Given the description of an element on the screen output the (x, y) to click on. 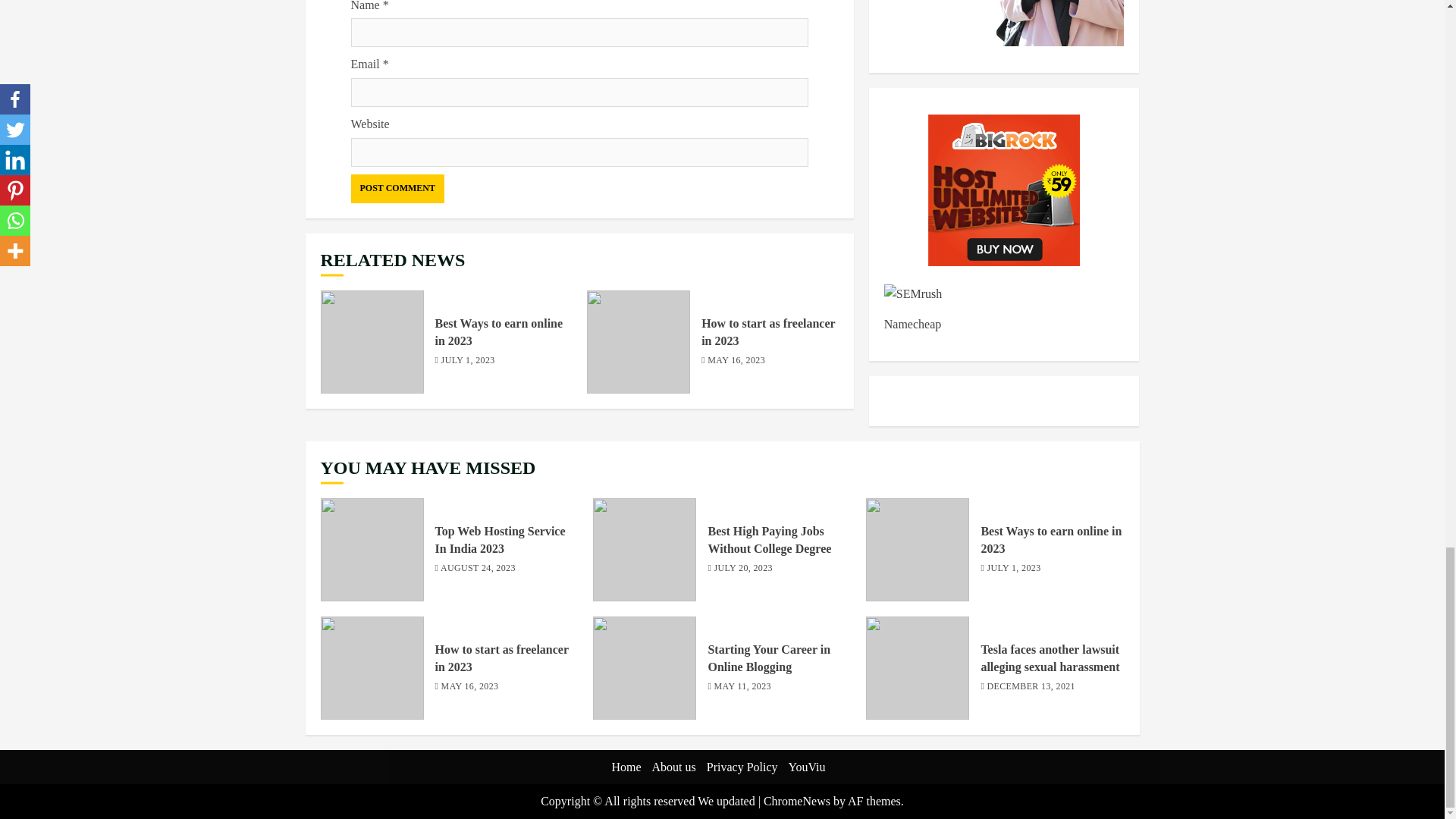
Best Ways to earn online in 2023 (371, 341)
Post Comment (397, 188)
Post Comment (397, 188)
